Given the description of an element on the screen output the (x, y) to click on. 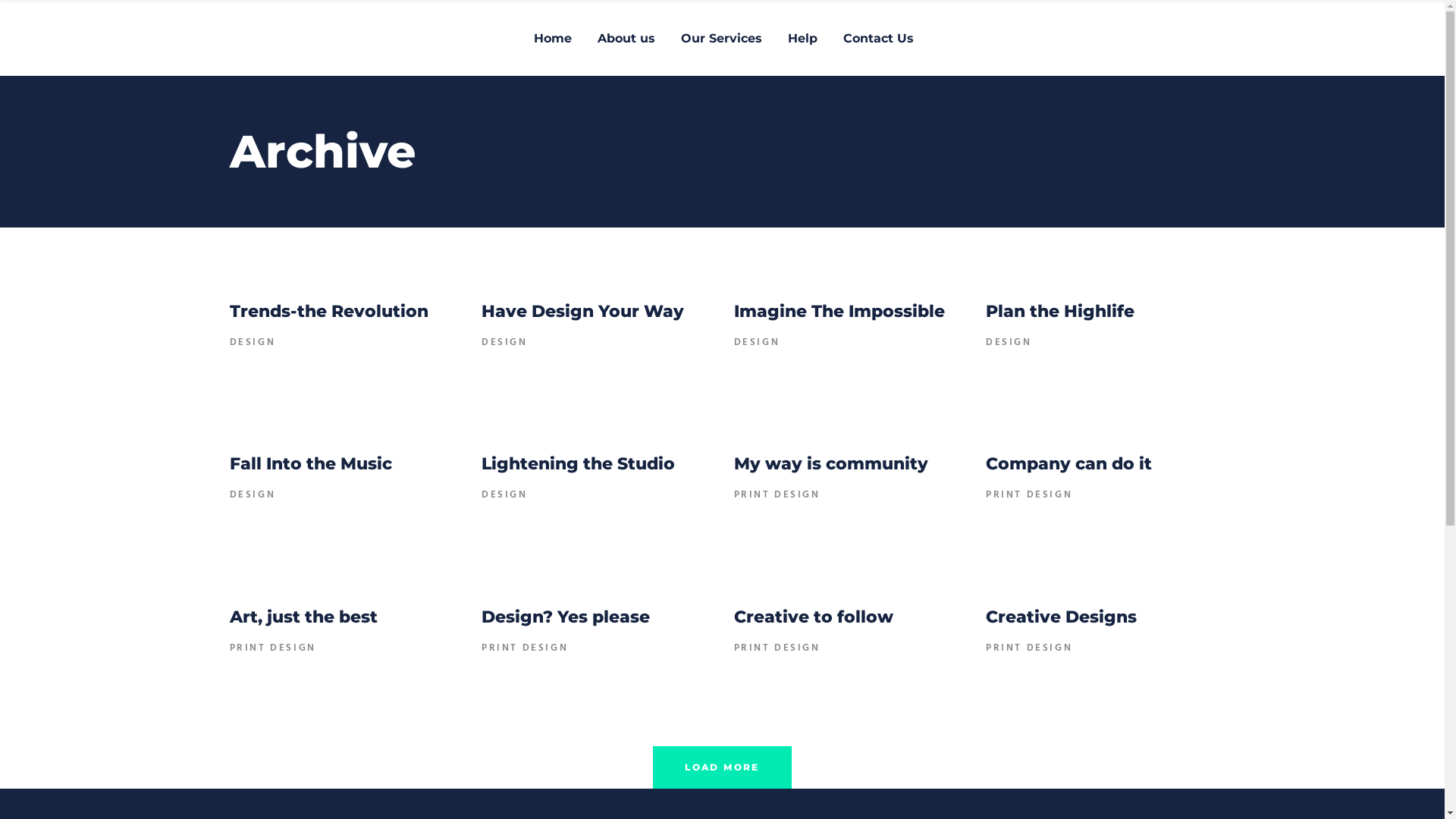
Plan the Highlife Element type: text (1059, 311)
DESIGN Element type: text (504, 495)
Fall Into the Music Element type: text (310, 463)
DESIGN Element type: text (504, 342)
Have Design Your Way Element type: text (582, 311)
PRINT DESIGN Element type: text (777, 495)
Our Services Element type: text (721, 37)
Imagine The Impossible Element type: text (839, 311)
Creative Designs Element type: text (1060, 616)
Company can do it Element type: text (1068, 463)
PRINT DESIGN Element type: text (777, 648)
PRINT DESIGN Element type: text (1028, 648)
LOAD MORE Element type: text (721, 767)
Lightening the Studio Element type: text (577, 463)
Creative to follow Element type: text (813, 616)
DESIGN Element type: text (1008, 342)
DESIGN Element type: text (757, 342)
Contact Us Element type: text (878, 37)
Home Element type: text (552, 37)
Trends-the Revolution Element type: text (328, 311)
DESIGN Element type: text (252, 495)
About us Element type: text (626, 37)
PRINT DESIGN Element type: text (272, 648)
Design? Yes please Element type: text (565, 616)
DESIGN Element type: text (252, 342)
PRINT DESIGN Element type: text (524, 648)
My way is community Element type: text (831, 463)
Help Element type: text (802, 37)
PRINT DESIGN Element type: text (1028, 495)
Art, just the best Element type: text (302, 616)
